Given the description of an element on the screen output the (x, y) to click on. 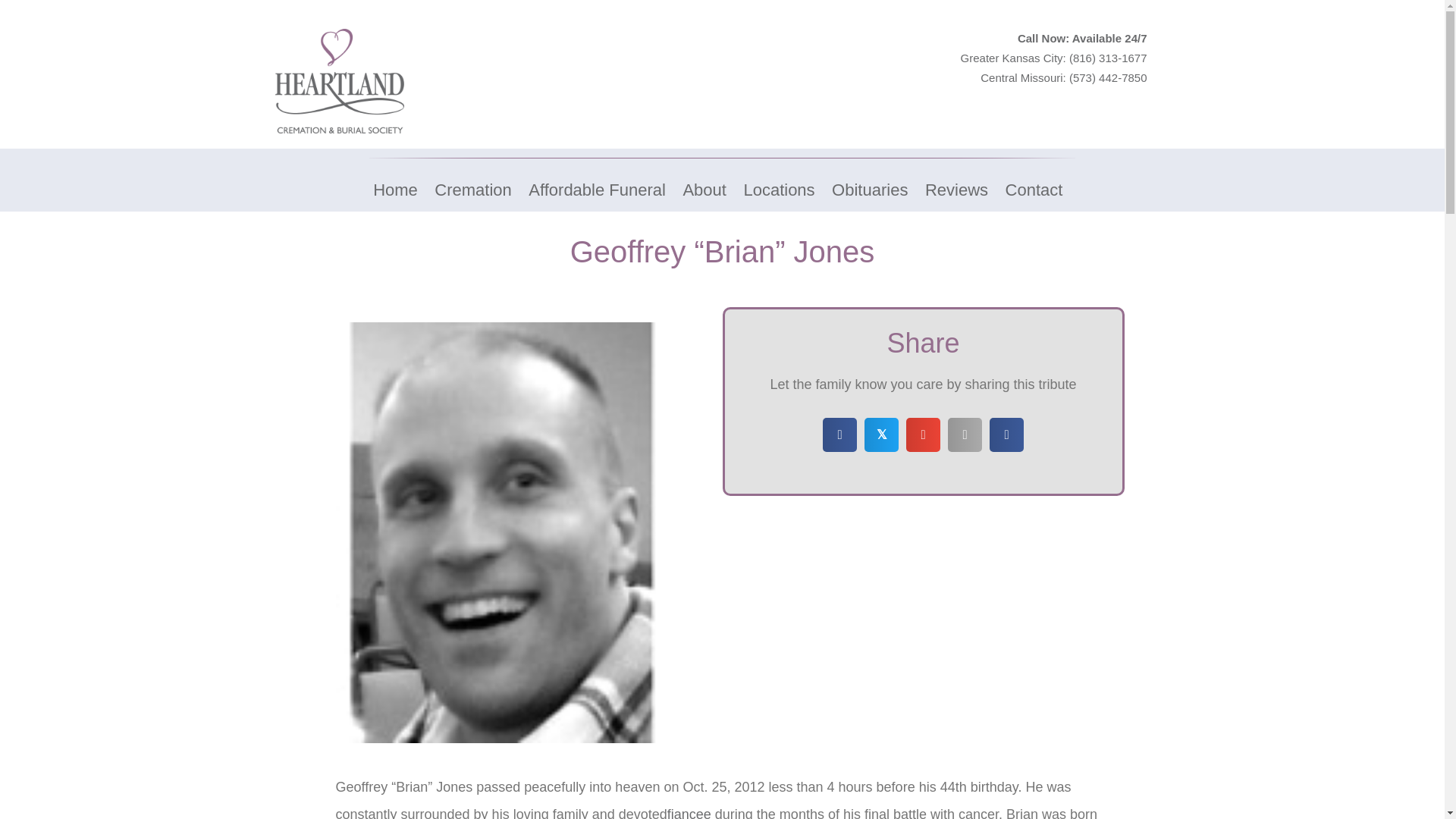
Contact (1034, 190)
Locations (778, 190)
Affordable Funeral (596, 190)
About (704, 190)
Reviews (956, 190)
logo (339, 80)
Cremation (472, 190)
Home (395, 190)
Obituaries (869, 190)
